Given the description of an element on the screen output the (x, y) to click on. 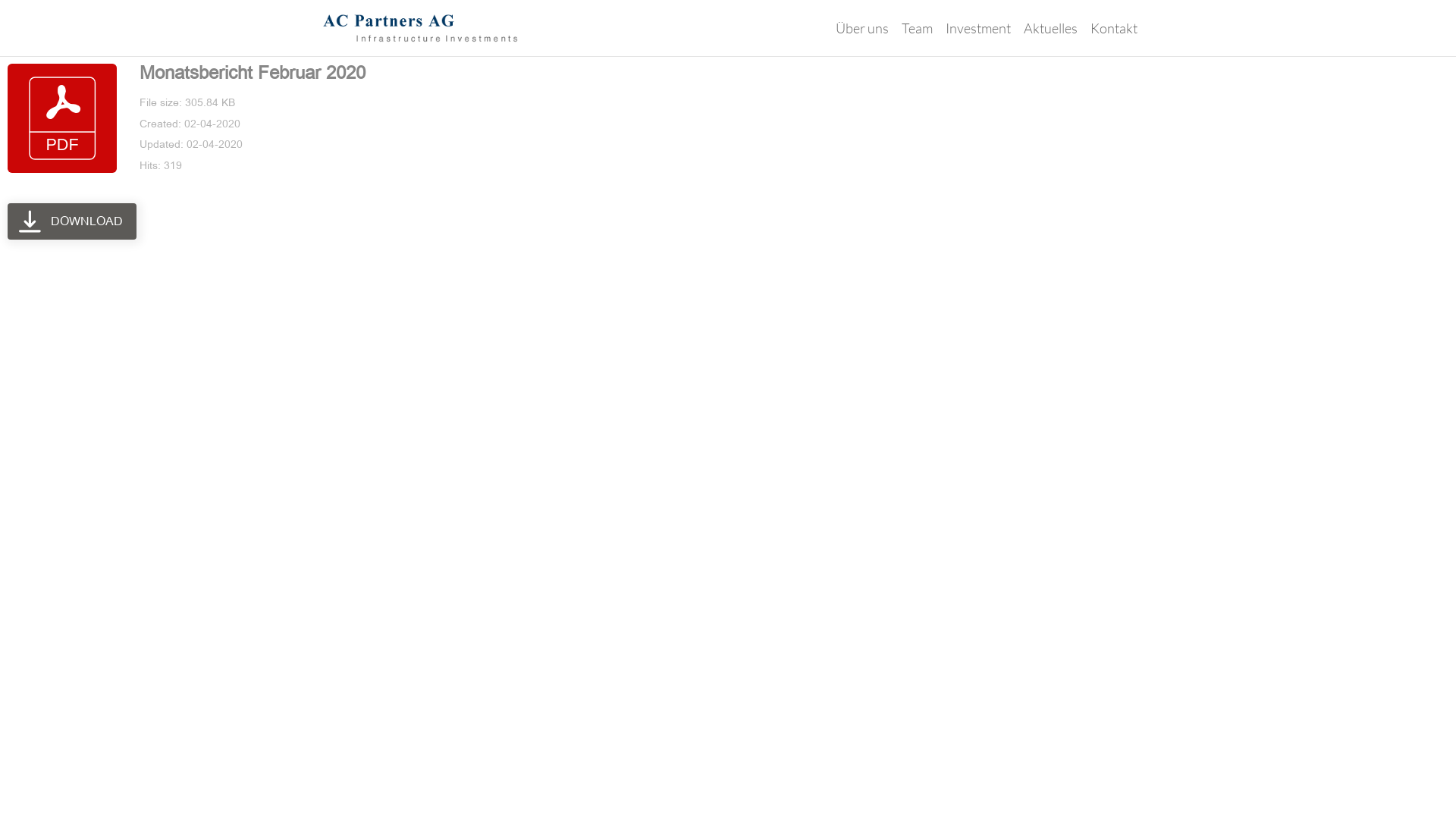
Aktuelles Element type: text (1050, 39)
Investment Element type: text (977, 39)
DOWNLOAD Element type: text (71, 221)
Team Element type: text (916, 39)
Kontakt Element type: text (1113, 39)
